Given the description of an element on the screen output the (x, y) to click on. 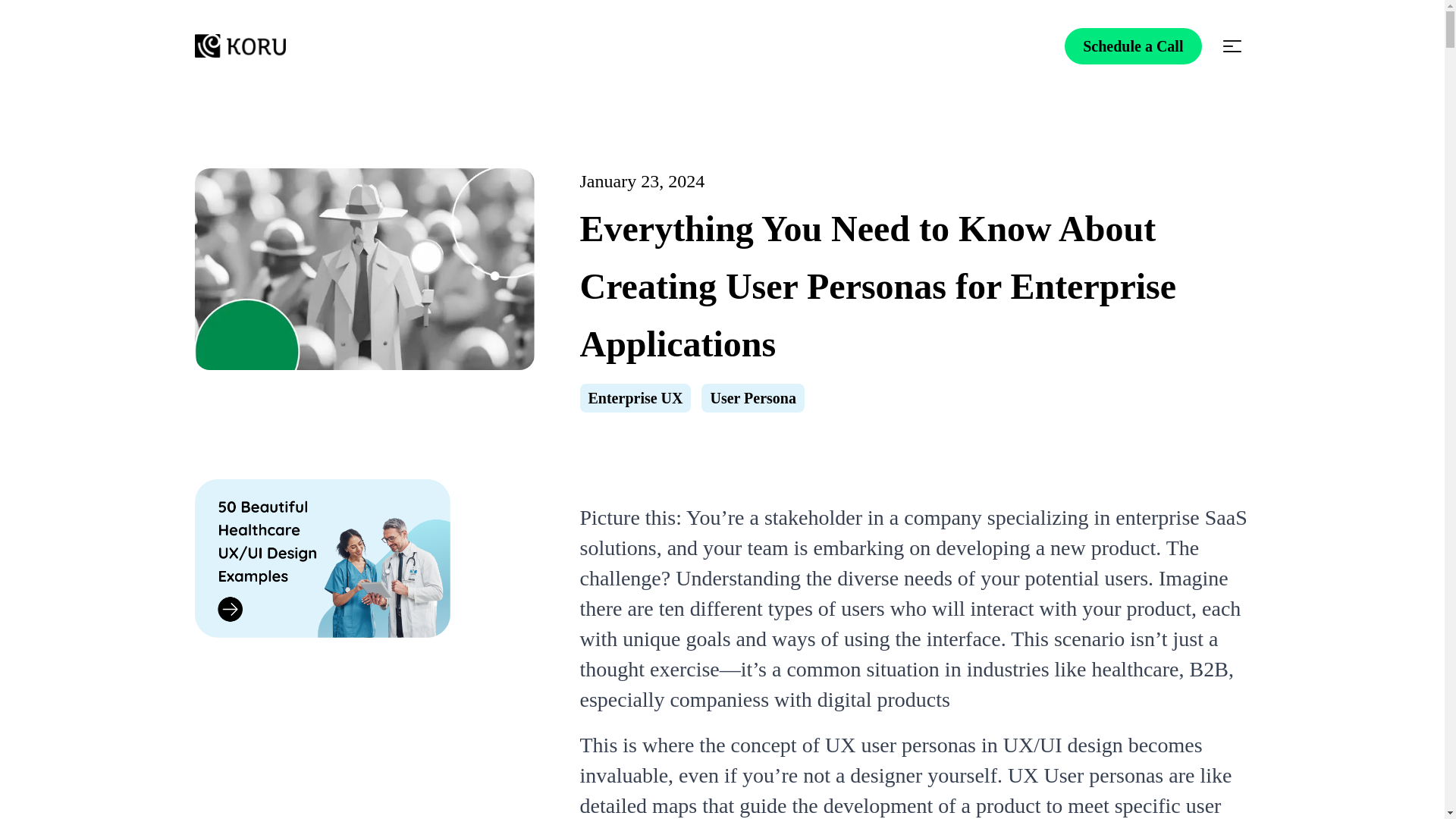
Schedule a Call (1132, 45)
